Given the description of an element on the screen output the (x, y) to click on. 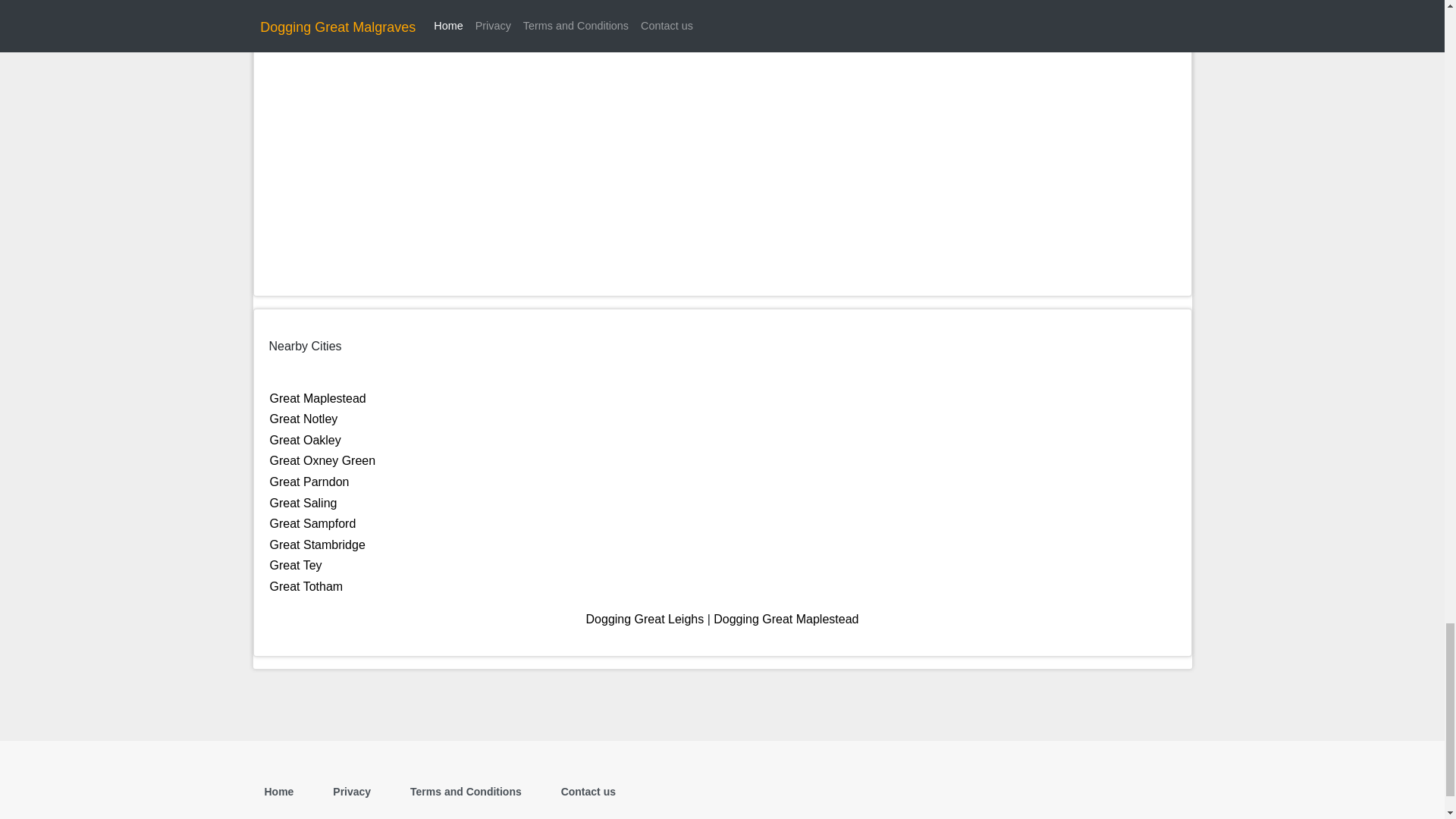
Great Sampford (312, 522)
Great Tey (295, 564)
Dogging Great Maplestead (786, 618)
Great Totham (306, 585)
Great Maplestead (317, 398)
Great Parndon (309, 481)
Great Oakley (304, 440)
Great Saling (303, 502)
Great Notley (303, 418)
Great Stambridge (317, 544)
